Given the description of an element on the screen output the (x, y) to click on. 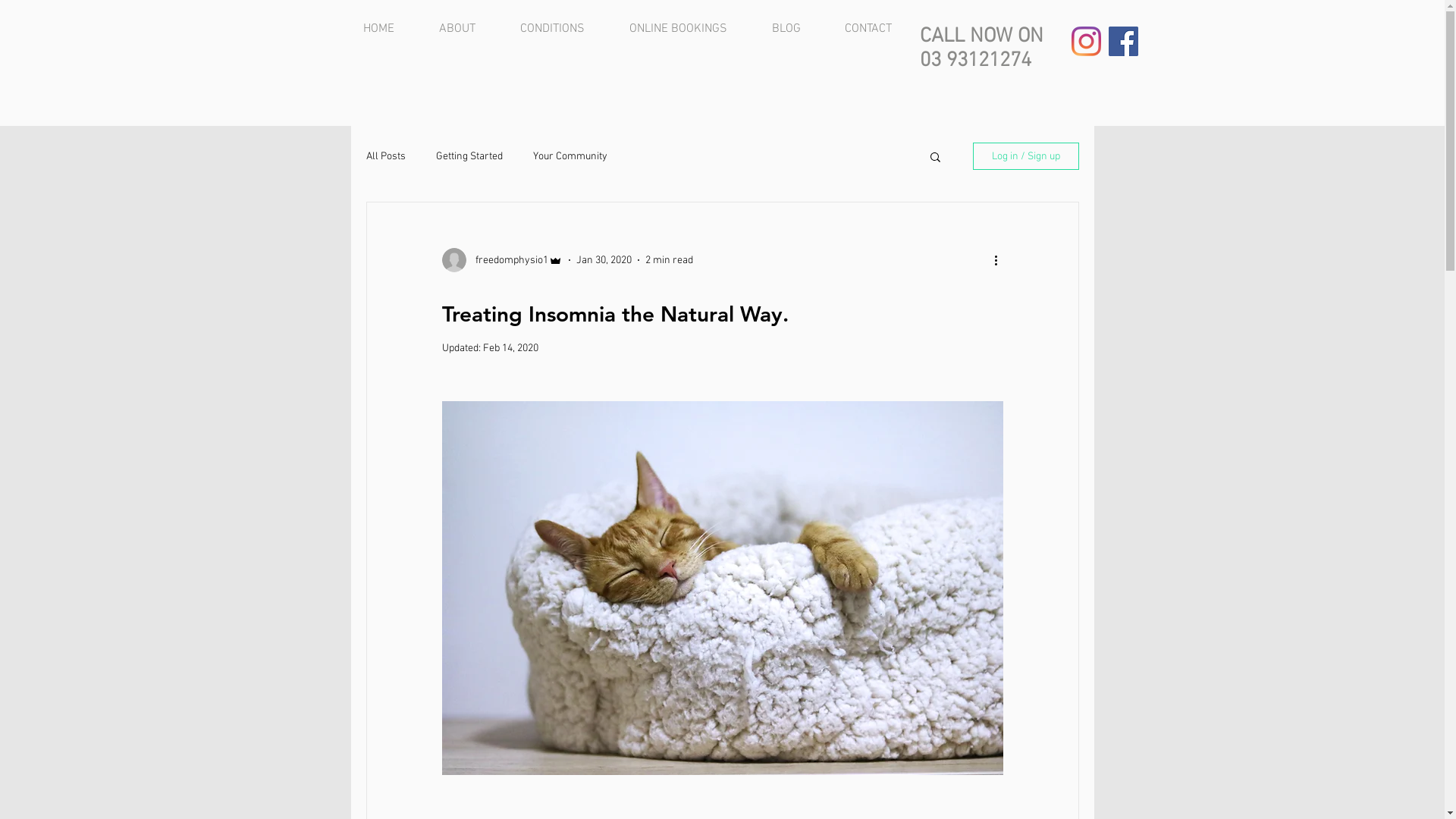
Log in / Sign up Element type: text (1025, 155)
Your Community Element type: text (569, 156)
All Posts Element type: text (384, 156)
BLOG Element type: text (795, 28)
ONLINE BOOKINGS Element type: text (688, 28)
HOME Element type: text (389, 28)
Getting Started Element type: text (468, 156)
CONTACT Element type: text (877, 28)
ABOUT Element type: text (467, 28)
CONDITIONS Element type: text (562, 28)
